Given the description of an element on the screen output the (x, y) to click on. 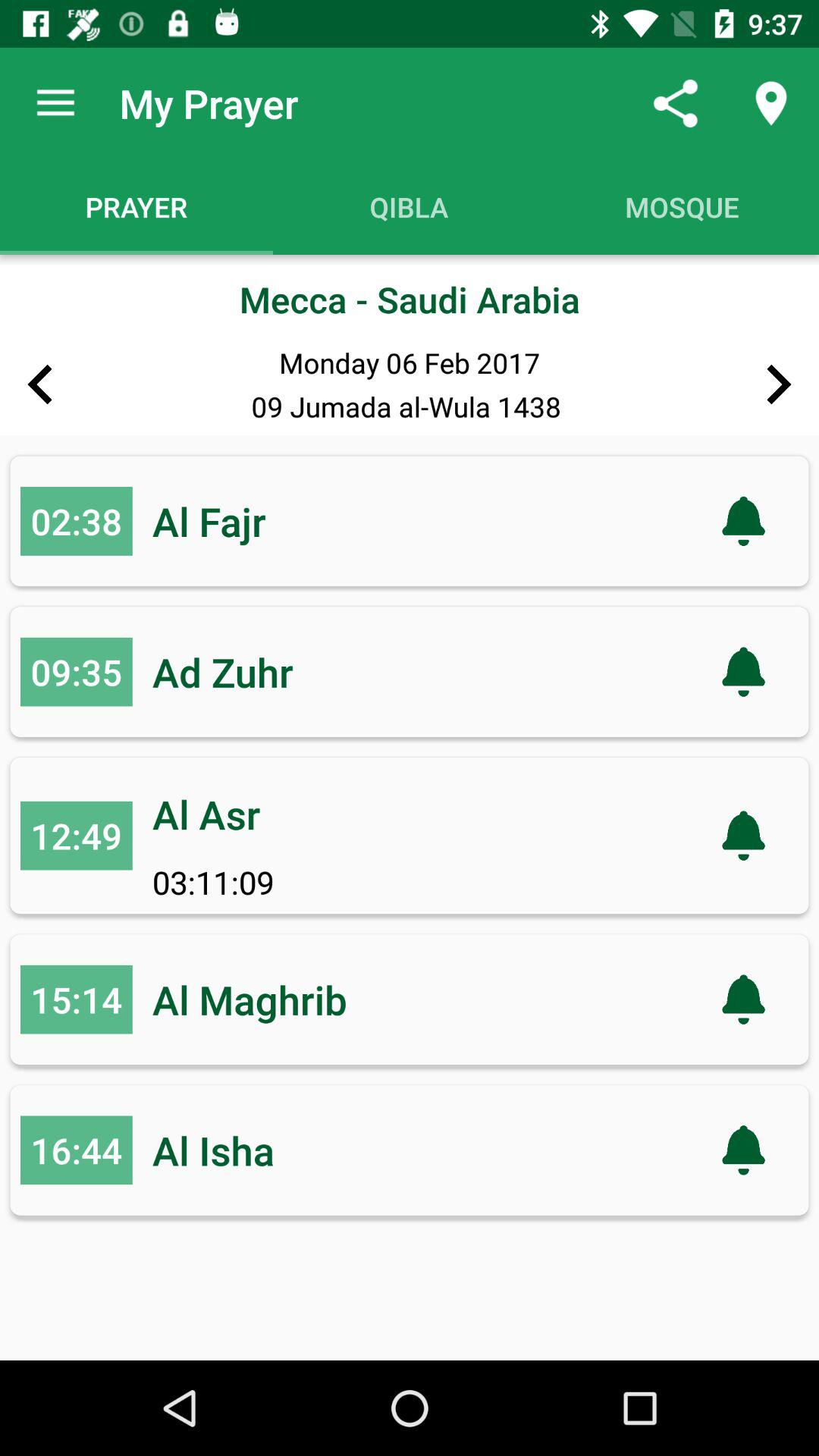
turn on icon above the 16:44 icon (76, 999)
